Given the description of an element on the screen output the (x, y) to click on. 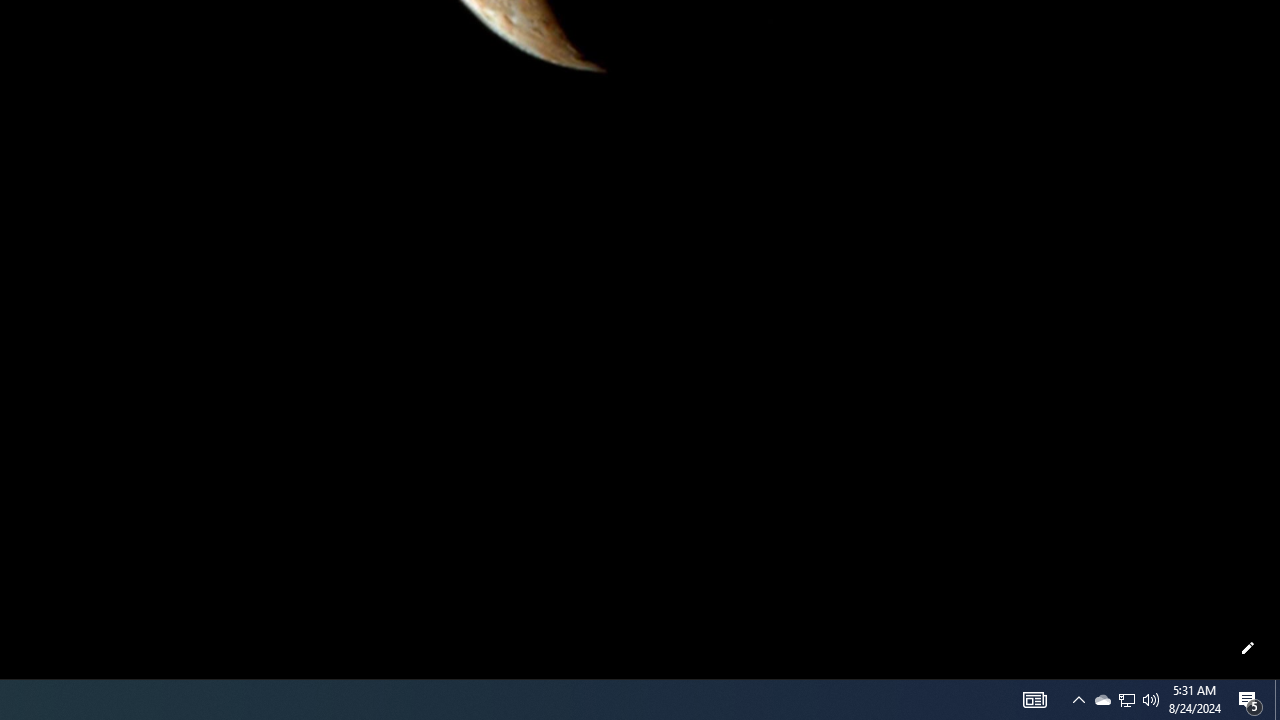
Customize this page (1247, 647)
Q2790: 100% (1151, 699)
Show desktop (1277, 699)
User Promoted Notification Area (1126, 699)
Action Center, 5 new notifications (1250, 699)
Notification Chevron (1126, 699)
AutomationID: 4105 (1102, 699)
